Given the description of an element on the screen output the (x, y) to click on. 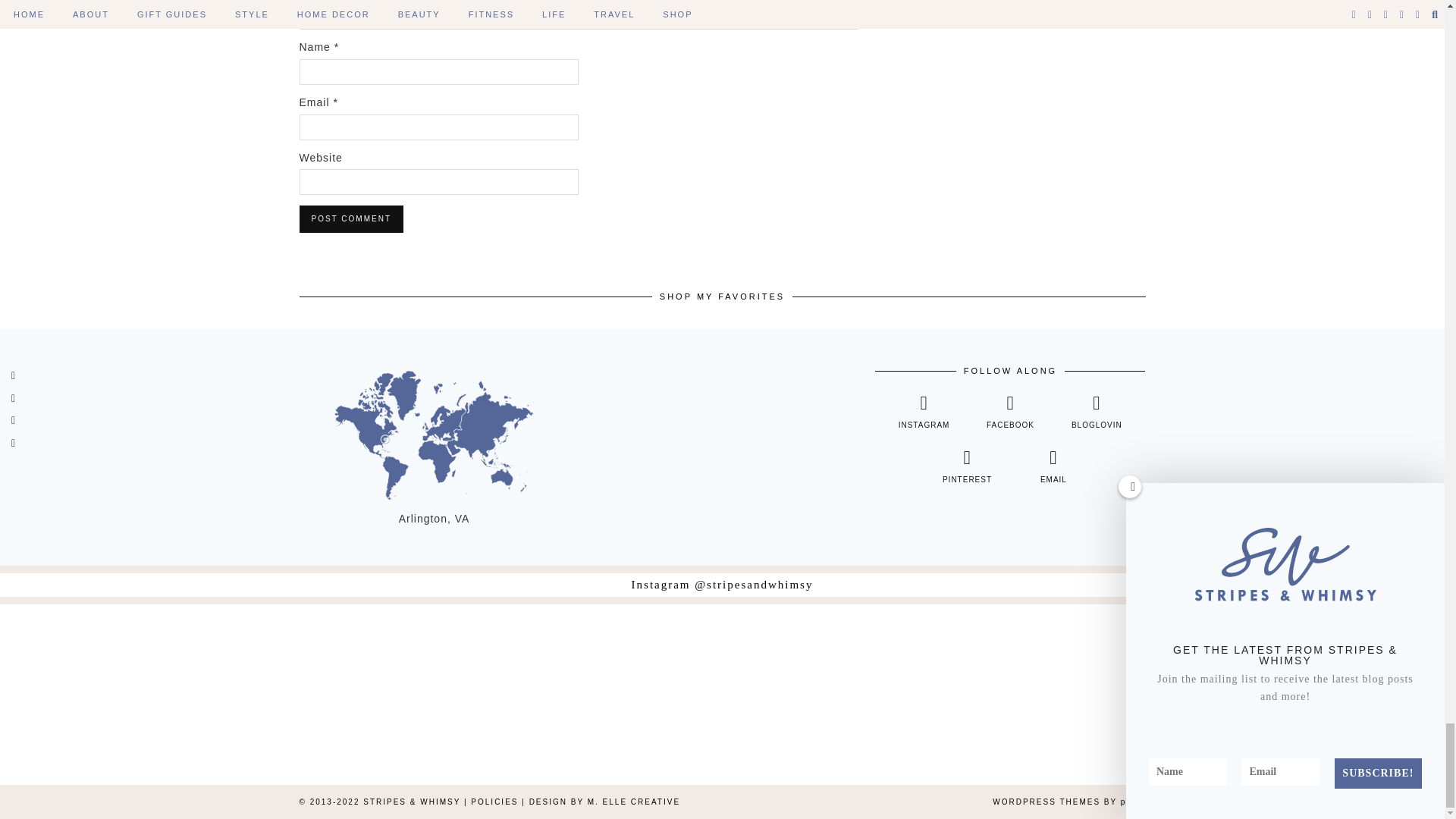
Post Comment (350, 218)
